Given the description of an element on the screen output the (x, y) to click on. 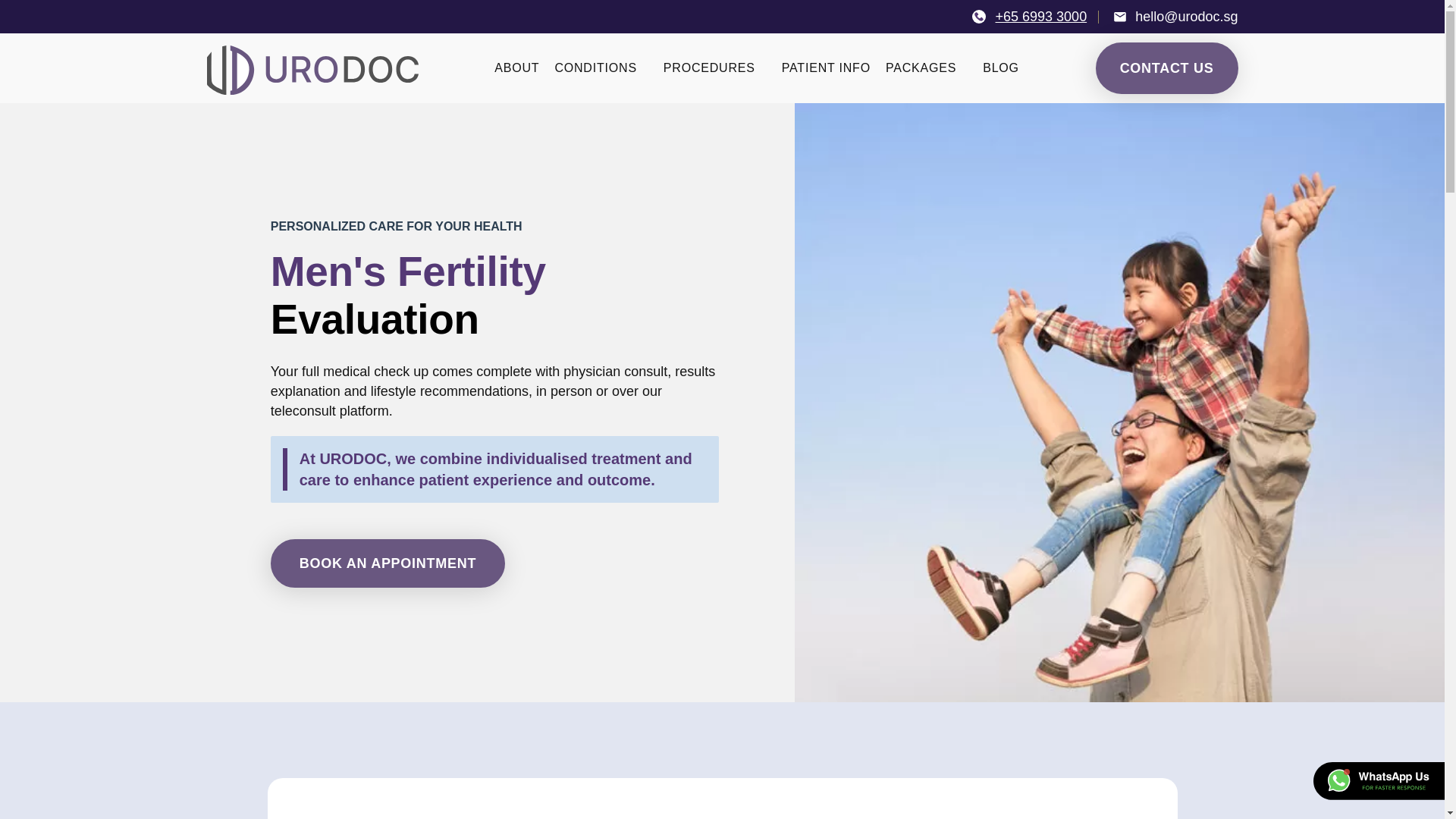
CONDITIONS (595, 68)
PROCEDURES (709, 68)
